Given the description of an element on the screen output the (x, y) to click on. 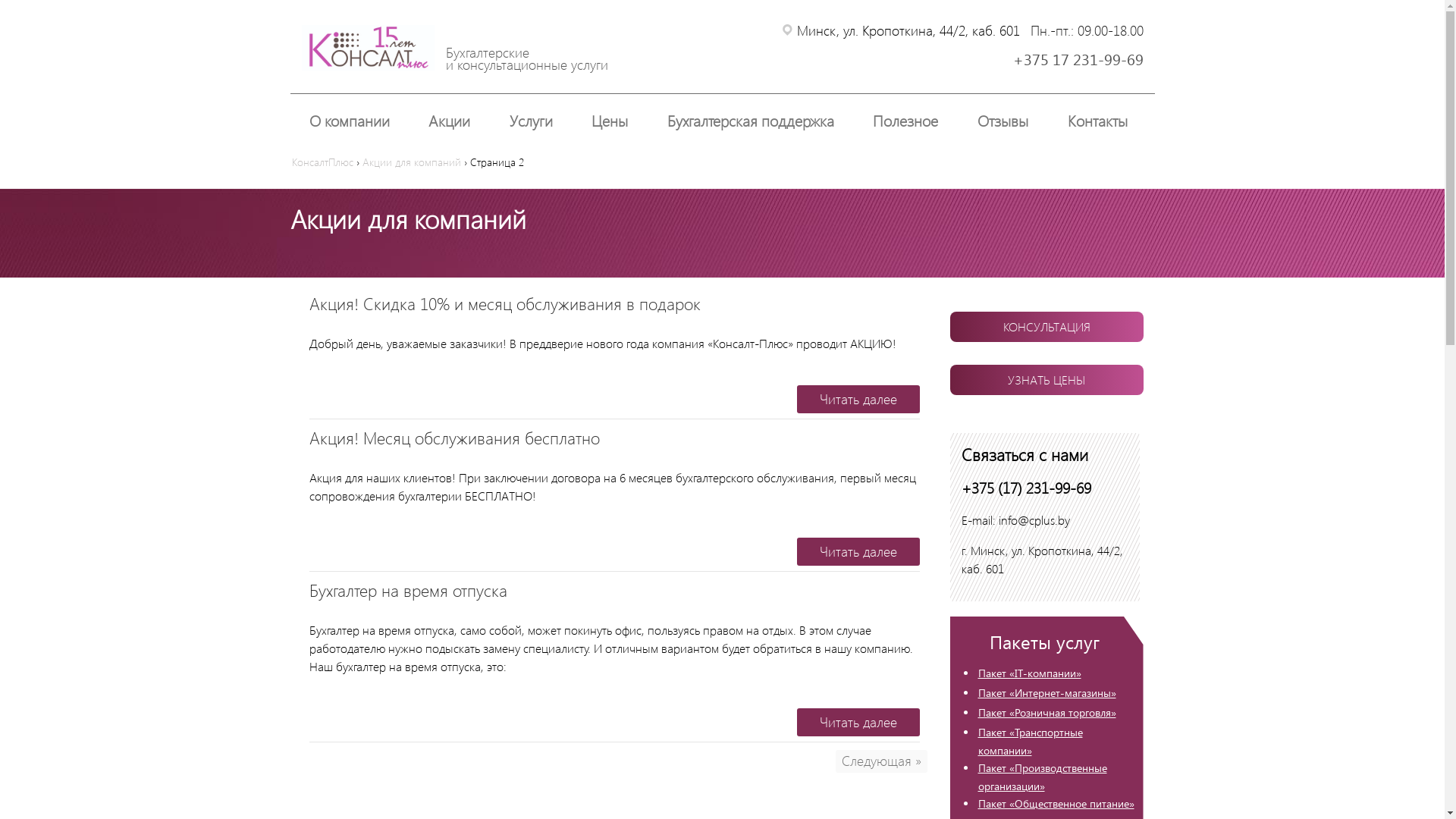
+375 17 231-99-69 Element type: text (1078, 58)
+375 (17) 231-99-69 Element type: text (1026, 486)
